Given the description of an element on the screen output the (x, y) to click on. 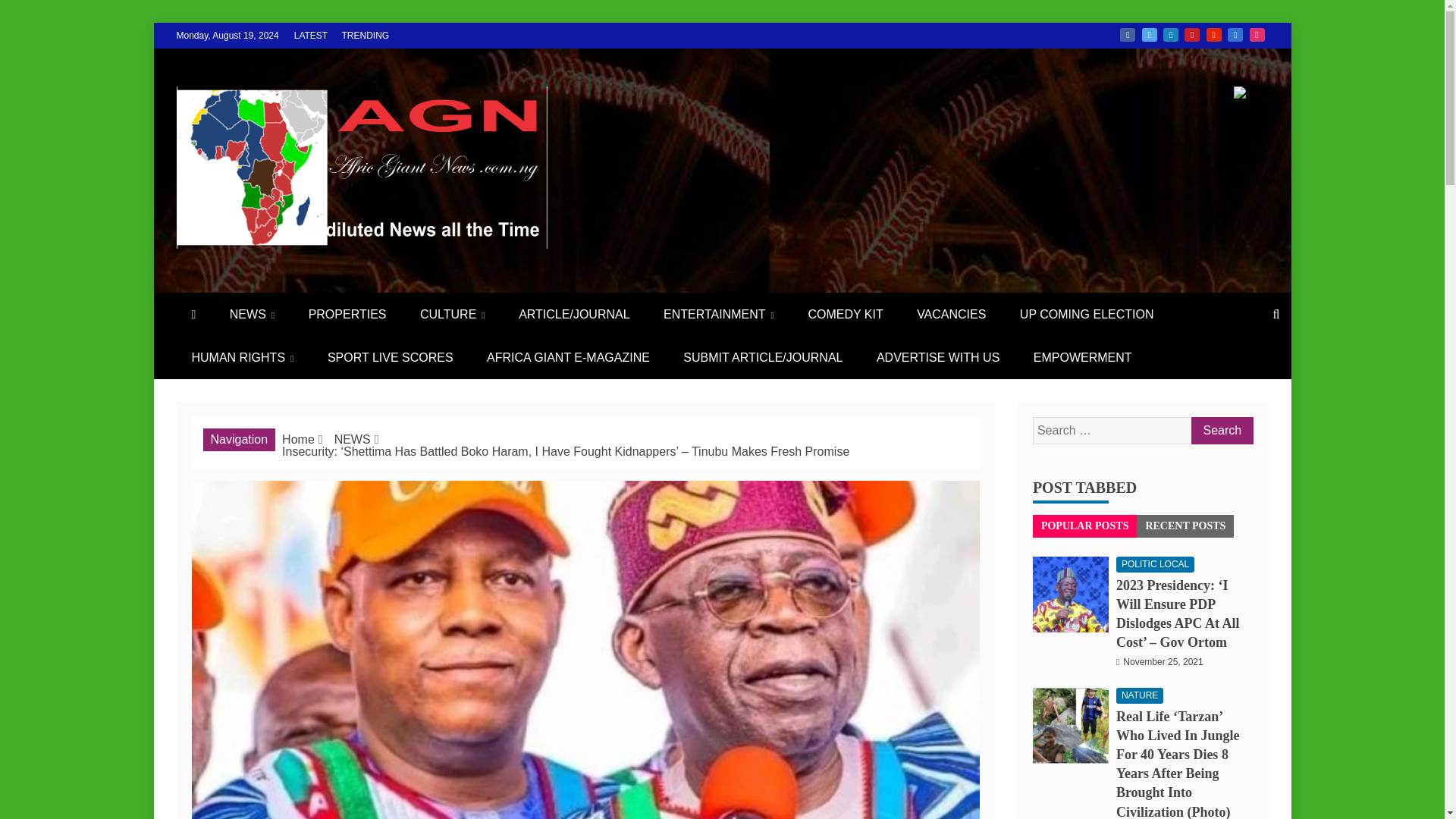
Pinterest (1192, 34)
Search (1221, 430)
PROPERTIES (347, 313)
Youtube (1214, 34)
VACANCIES (951, 313)
Linkedin (1170, 34)
COMEDY KIT (845, 313)
Facebook (1127, 34)
LATEST (310, 35)
